Given the description of an element on the screen output the (x, y) to click on. 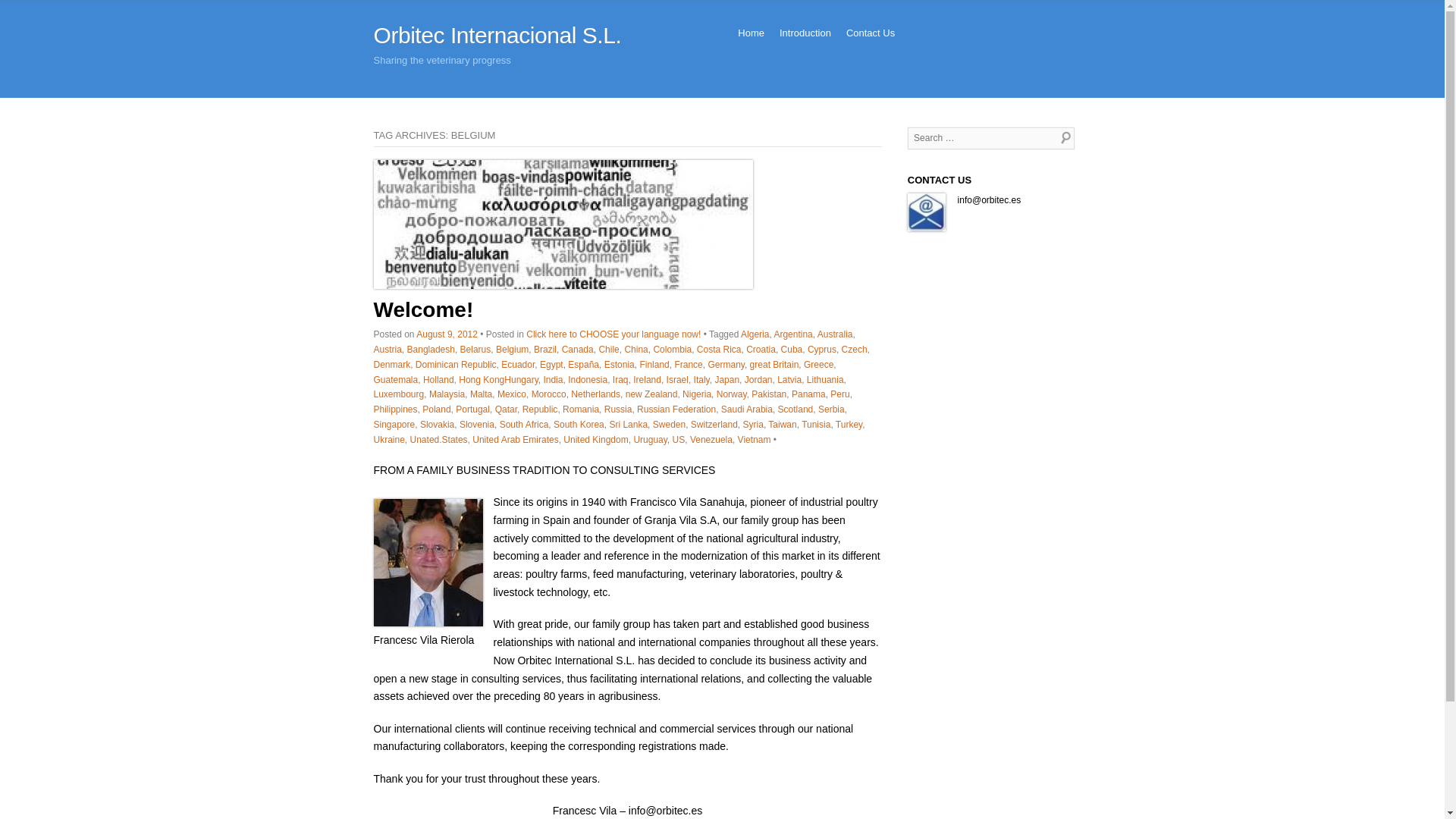
great Britain (774, 364)
Guatemala (394, 379)
Greece (817, 364)
France (687, 364)
Finland (653, 364)
Chile (608, 348)
Brazil (545, 348)
Argentina (792, 334)
Egypt (551, 364)
Costa Rica (719, 348)
Welcome! (562, 224)
Orbitec Internacional S.L. (496, 34)
Canada (578, 348)
Denmark (391, 364)
Croatia (760, 348)
